Given the description of an element on the screen output the (x, y) to click on. 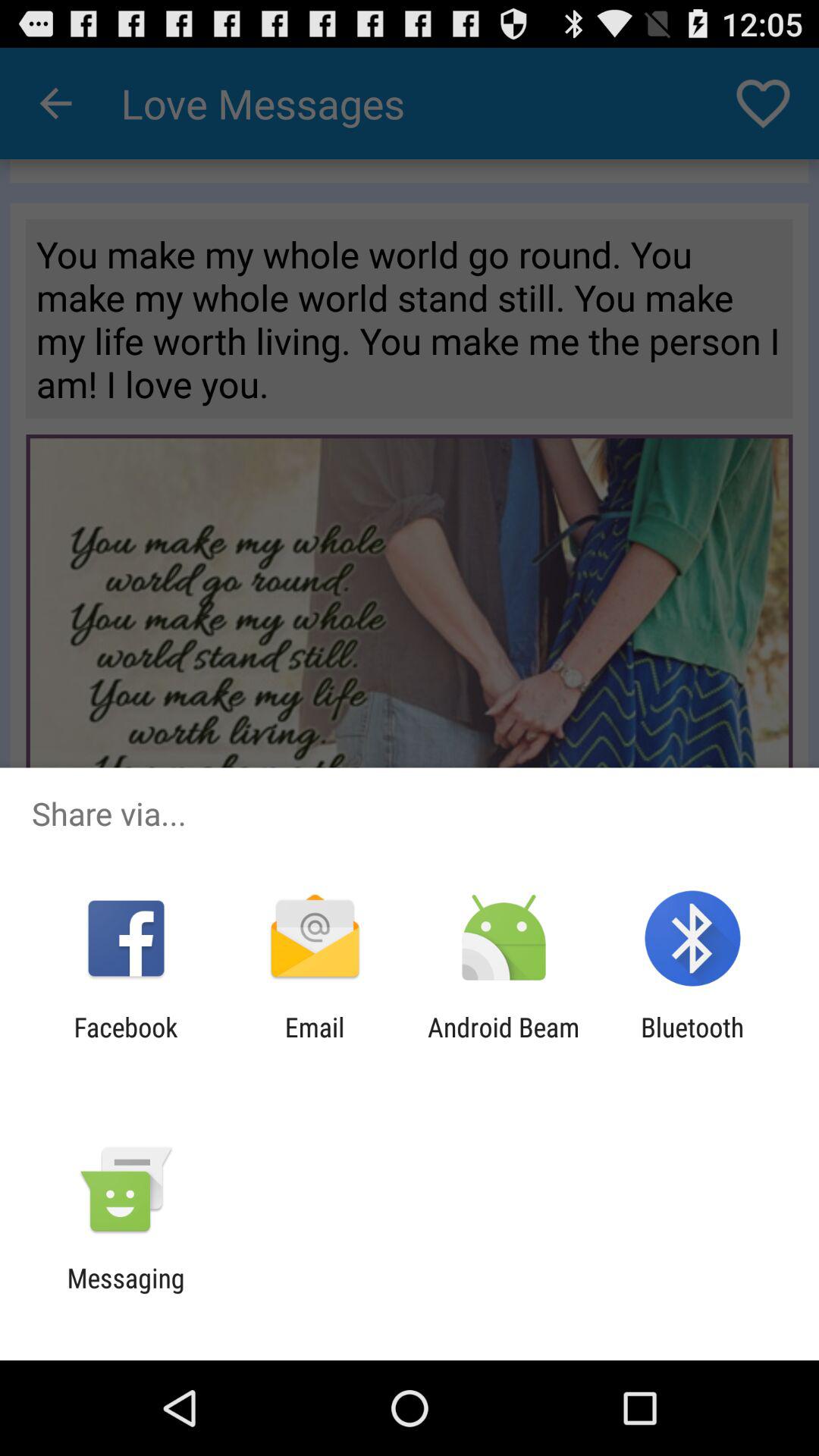
swipe to the android beam icon (503, 1042)
